Given the description of an element on the screen output the (x, y) to click on. 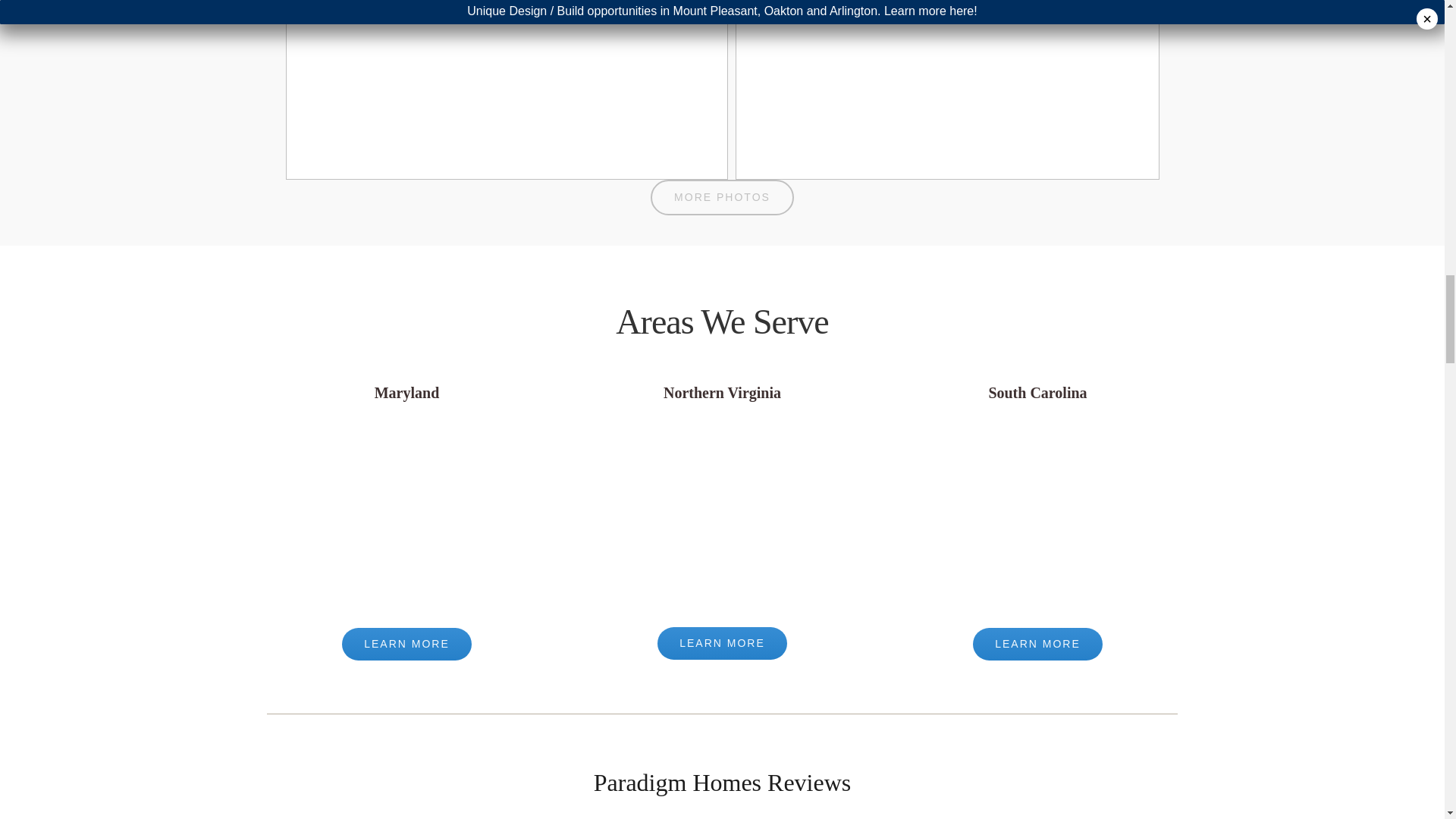
024-3313-N-TRINIDAD-STREET-226614-323332 (946, 89)
